Given the description of an element on the screen output the (x, y) to click on. 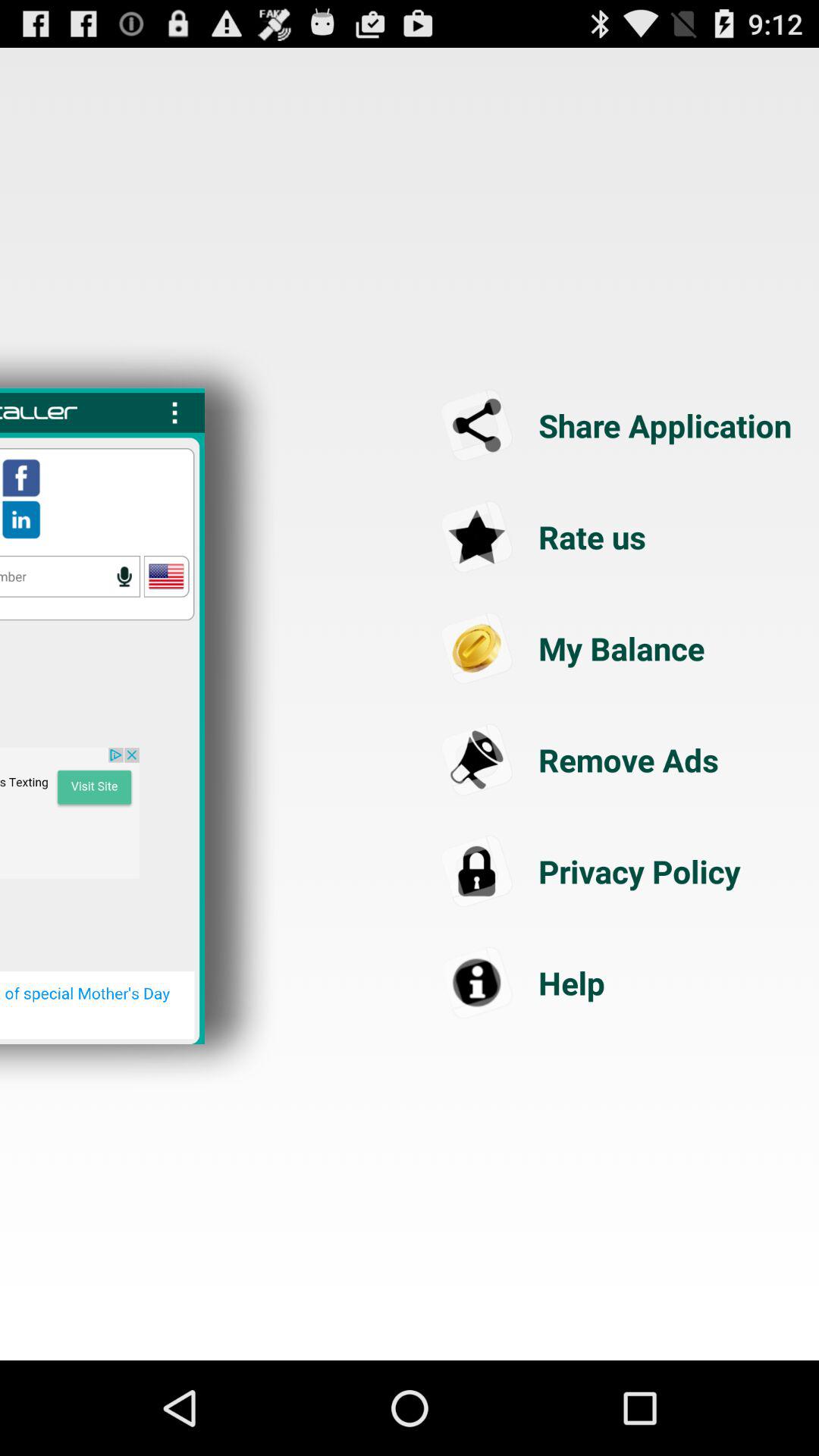
speak with words (70, 576)
